Given the description of an element on the screen output the (x, y) to click on. 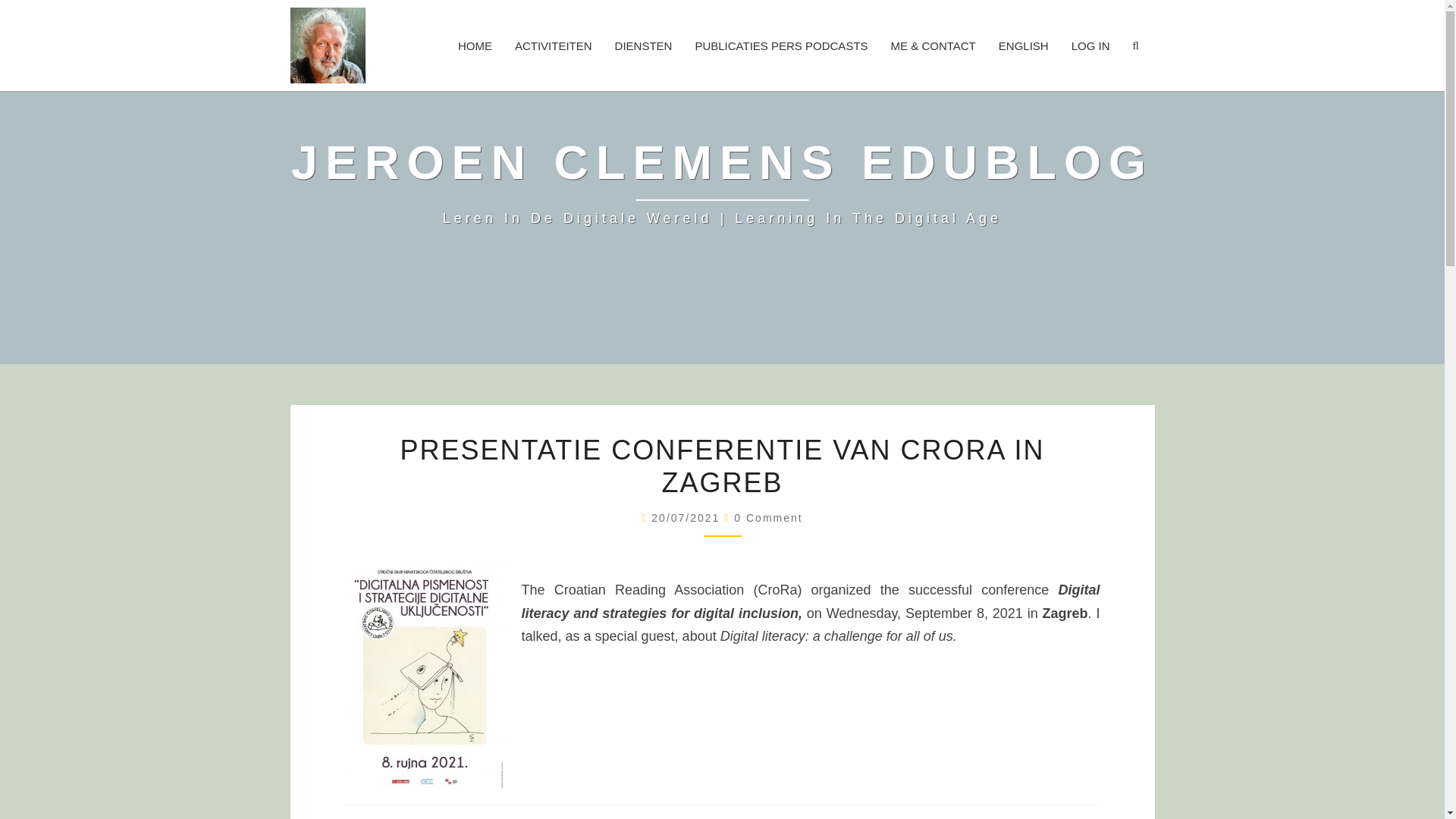
Jeroen Clemens Edublog (722, 182)
PUBLICATIES PERS PODCASTS (780, 44)
HOME (474, 44)
LOG IN (1090, 44)
ENGLISH (1023, 44)
ACTIVITEITEN (553, 44)
DIENSTEN (644, 44)
10:52 (686, 517)
0 Comment (767, 517)
